Given the description of an element on the screen output the (x, y) to click on. 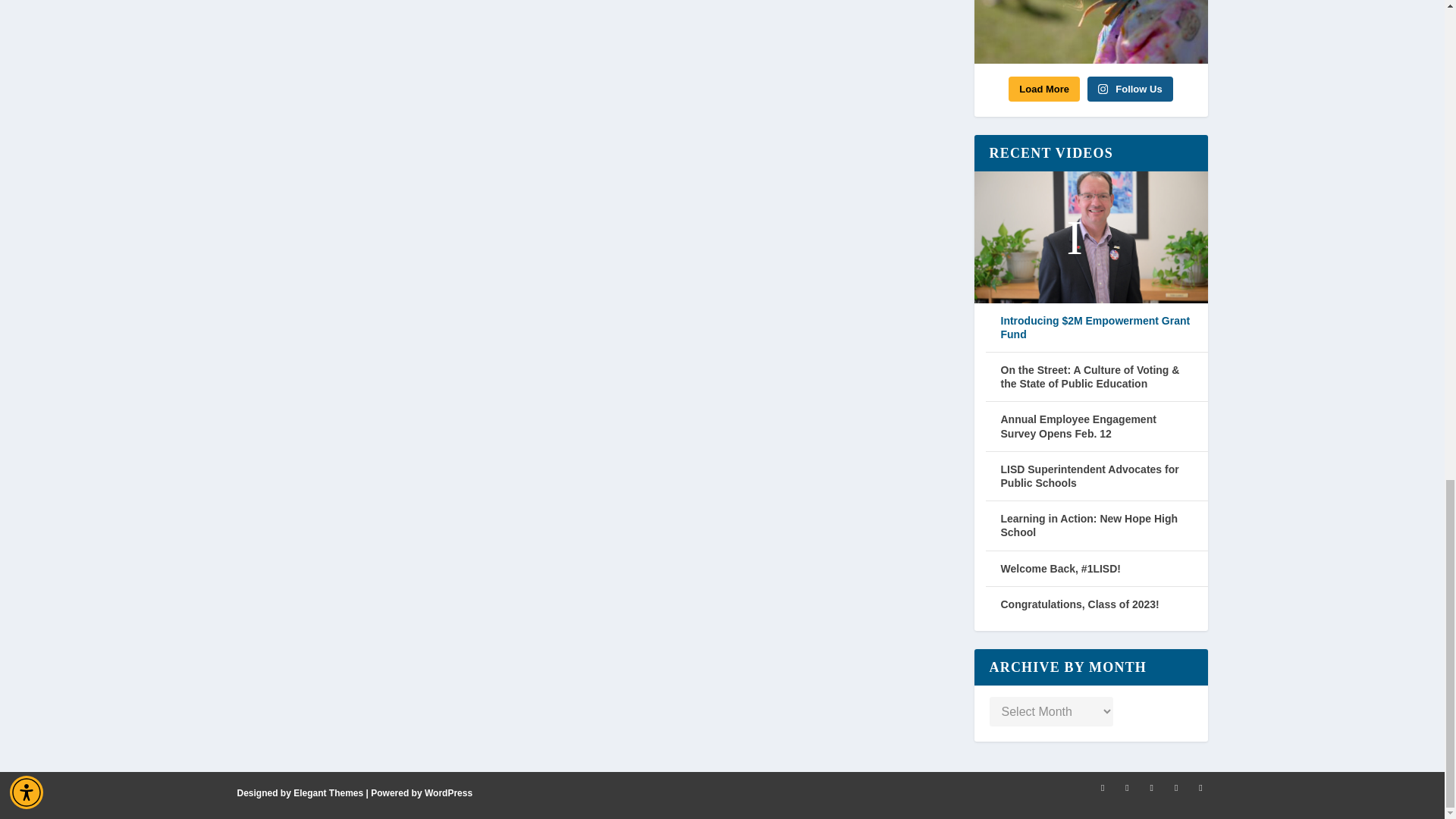
Premium WordPress Themes (328, 792)
